Given the description of an element on the screen output the (x, y) to click on. 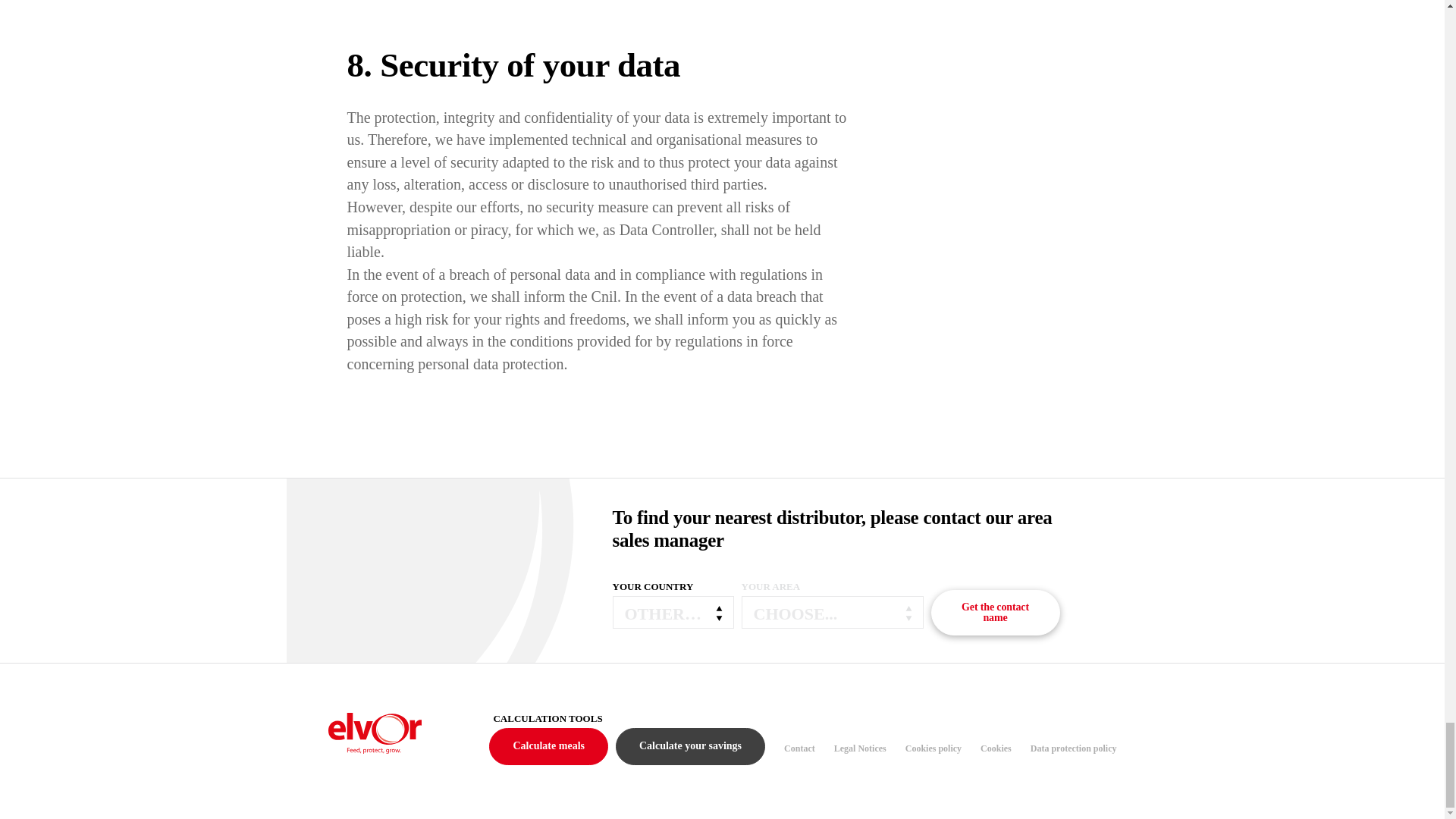
Elvor Home page (374, 740)
